Given the description of an element on the screen output the (x, y) to click on. 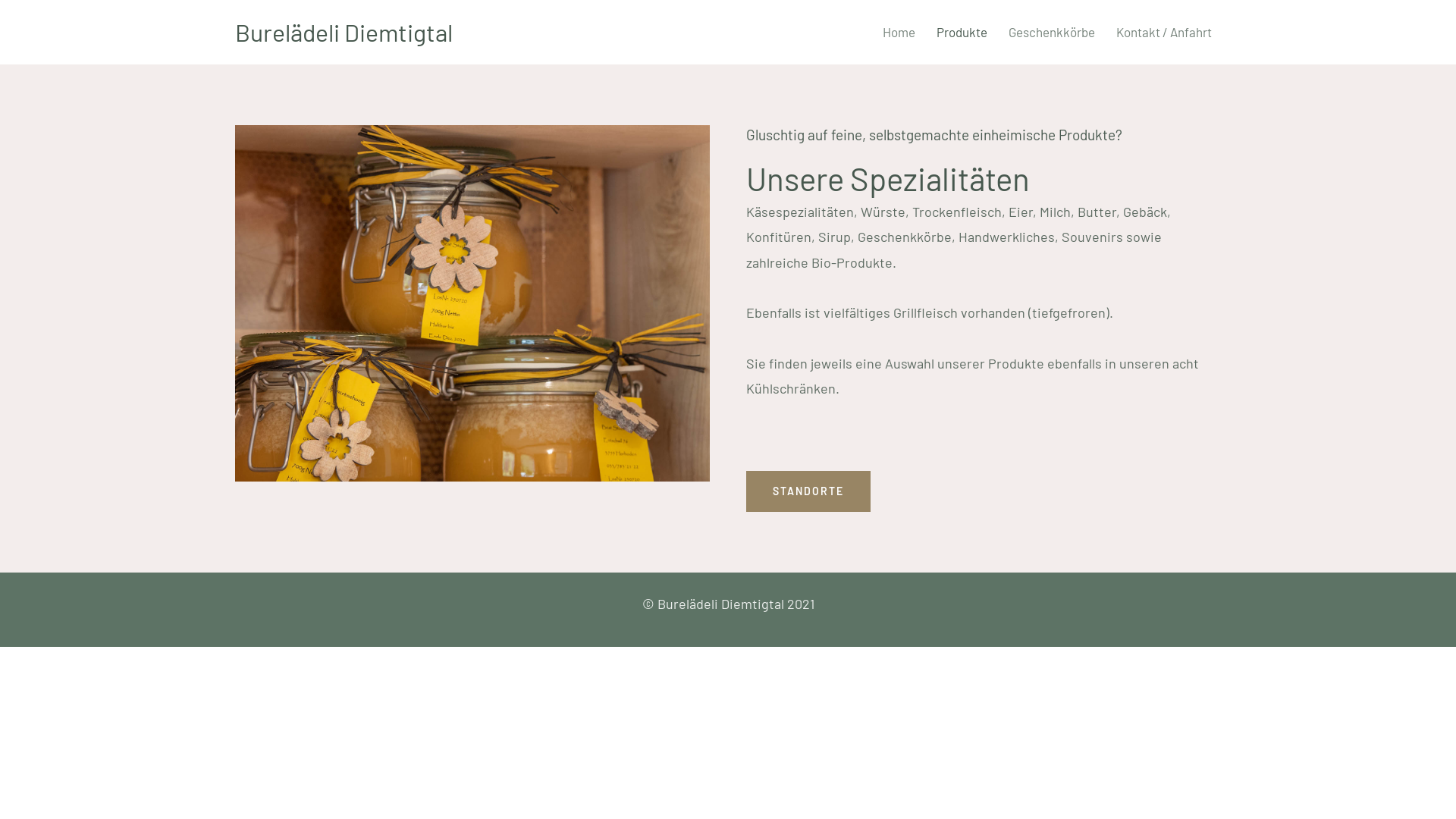
Home Element type: text (898, 31)
Produkte Element type: text (961, 31)
Kontakt / Anfahrt Element type: text (1163, 31)
STANDORTE Element type: text (808, 490)
